Given the description of an element on the screen output the (x, y) to click on. 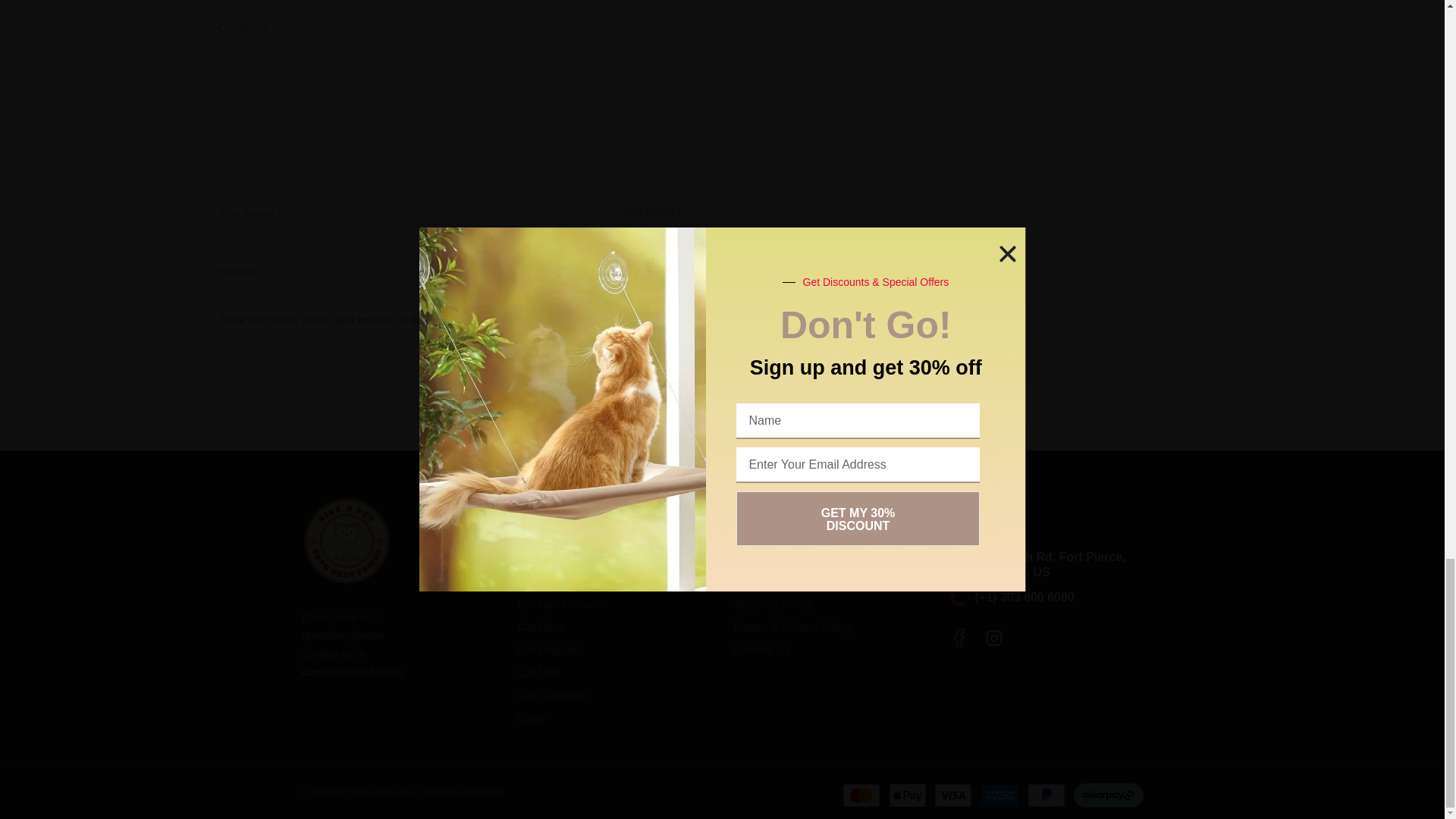
yes (207, 318)
Post Comment (592, 362)
